Given the description of an element on the screen output the (x, y) to click on. 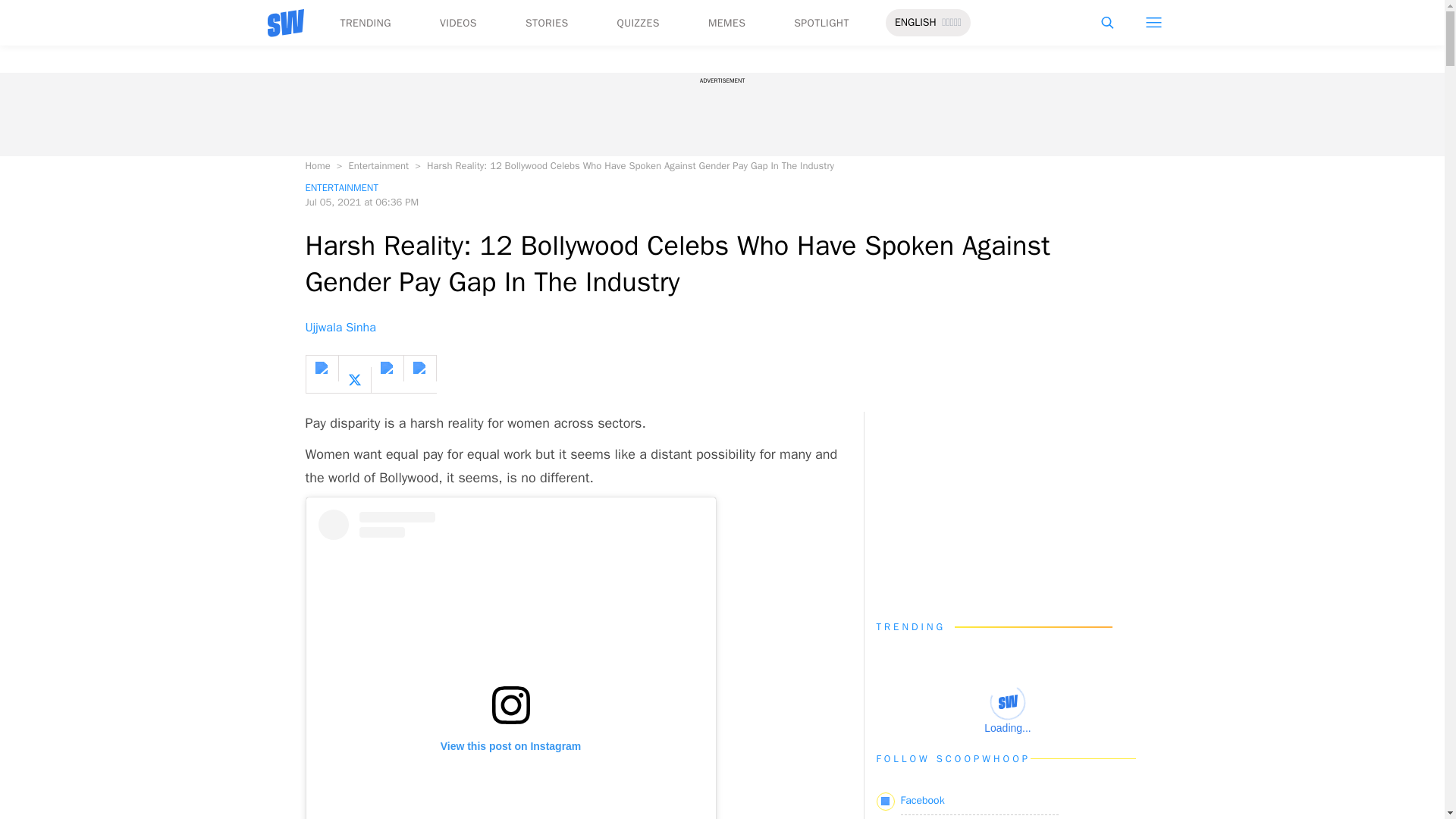
MEMES (726, 22)
QUIZZES (638, 22)
TRENDING (364, 22)
SPOTLIGHT (820, 22)
ENGLISH (915, 22)
STORIES (547, 22)
VIDEOS (458, 22)
